Given the description of an element on the screen output the (x, y) to click on. 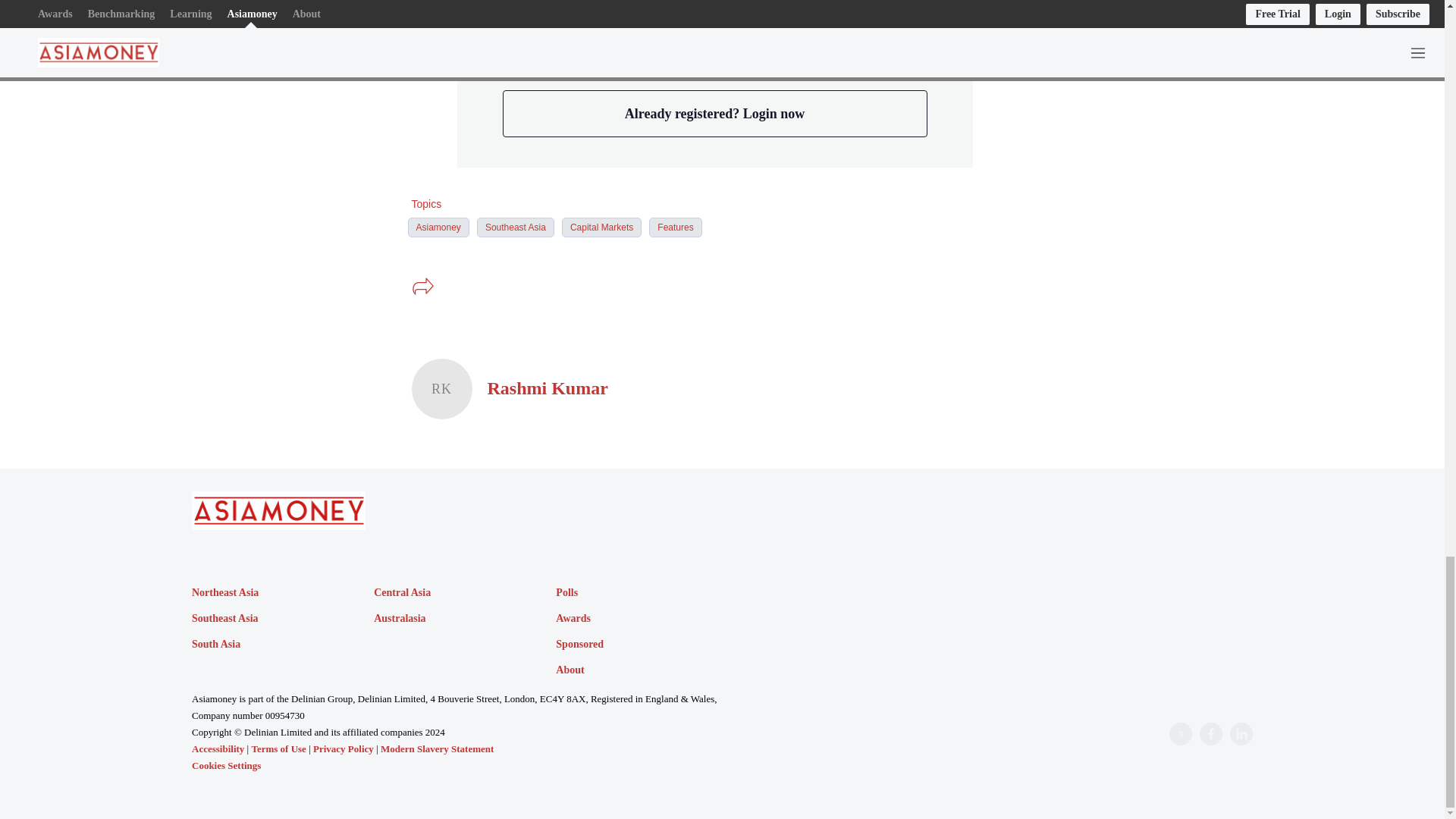
Share (421, 286)
